Given the description of an element on the screen output the (x, y) to click on. 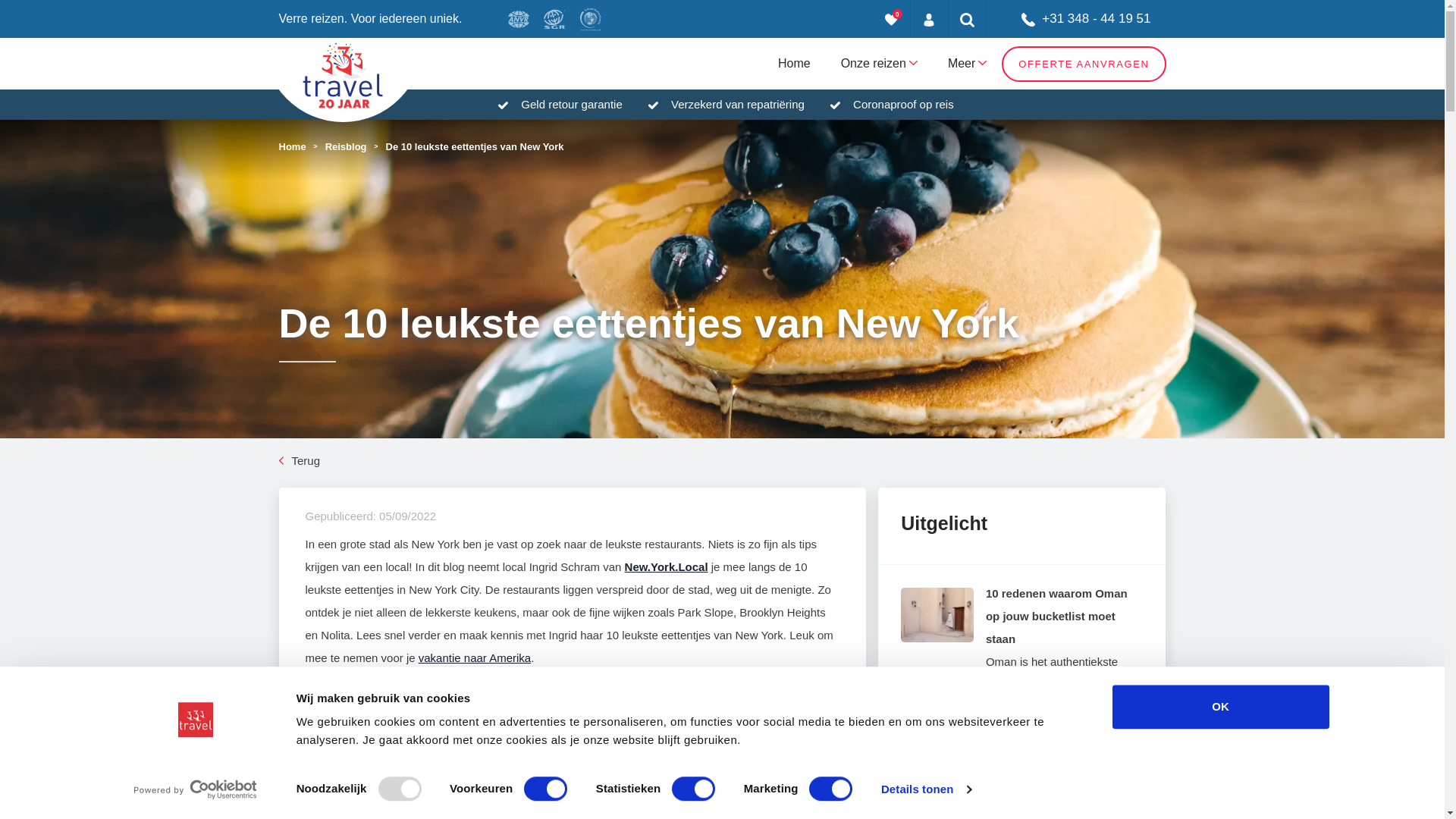
Mijn account Element type: hover (929, 18)
Geld retour garantie Element type: text (571, 103)
Coronaproof op reis Element type: text (903, 103)
Terug Element type: text (299, 460)
De 10 leukste eettentjes van New York Element type: text (474, 146)
Home Element type: text (793, 63)
OK Element type: text (1219, 706)
New.York.Local Element type: text (666, 566)
Onze reizen Element type: text (878, 63)
Details tonen Element type: text (926, 789)
0 Element type: text (891, 18)
Zoeken Element type: hover (967, 18)
Reisblog Element type: text (346, 146)
+31 348 - 44 19 51 Element type: text (1076, 18)
OFFERTE AANVRAGEN Element type: text (1083, 63)
Meer Element type: text (966, 63)
vakantie naar Amerika Element type: text (474, 657)
Lees meer Element type: text (1049, 718)
Home Element type: text (292, 146)
